Given the description of an element on the screen output the (x, y) to click on. 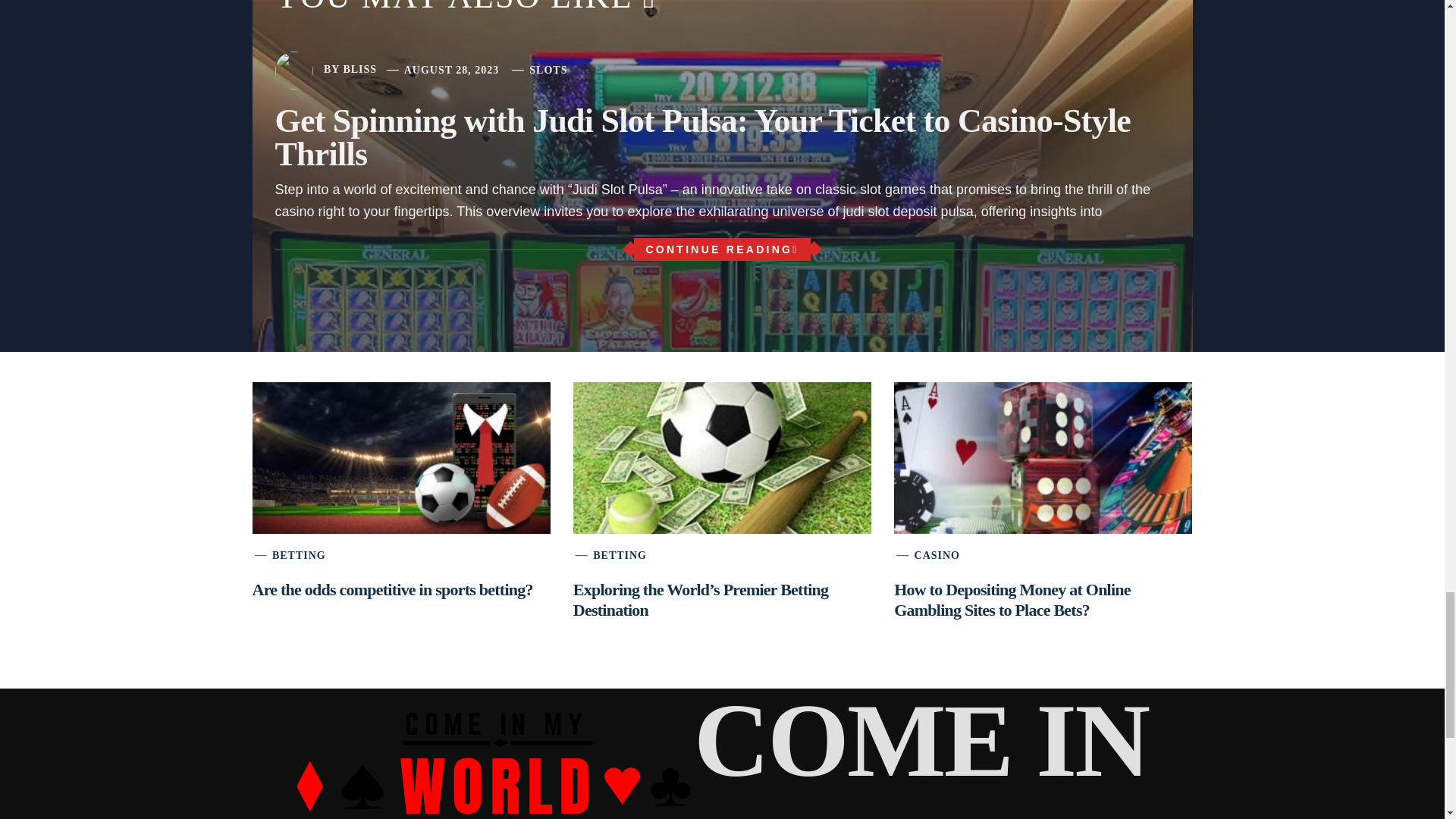
SLOTS (548, 70)
CONTINUE READING (721, 249)
BLISS (359, 70)
AUGUST 28, 2023 (451, 70)
